Given the description of an element on the screen output the (x, y) to click on. 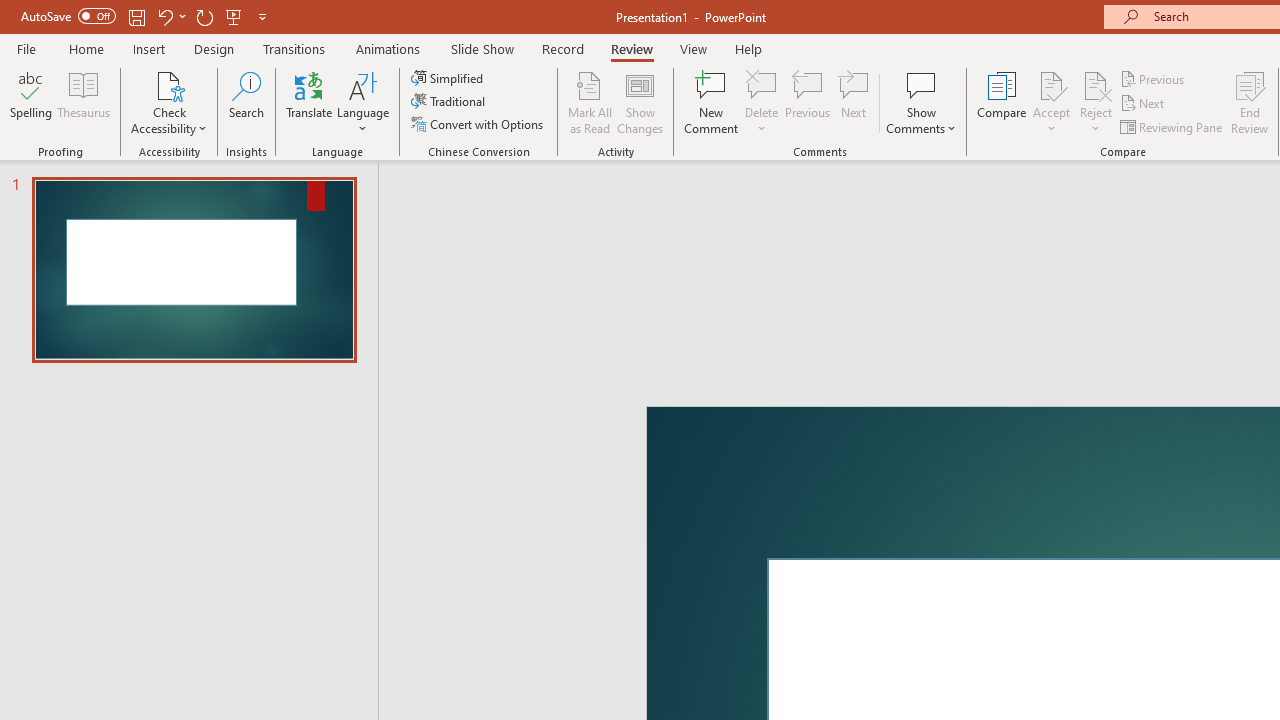
Reviewing Pane (1172, 126)
Thesaurus... (83, 102)
